Given the description of an element on the screen output the (x, y) to click on. 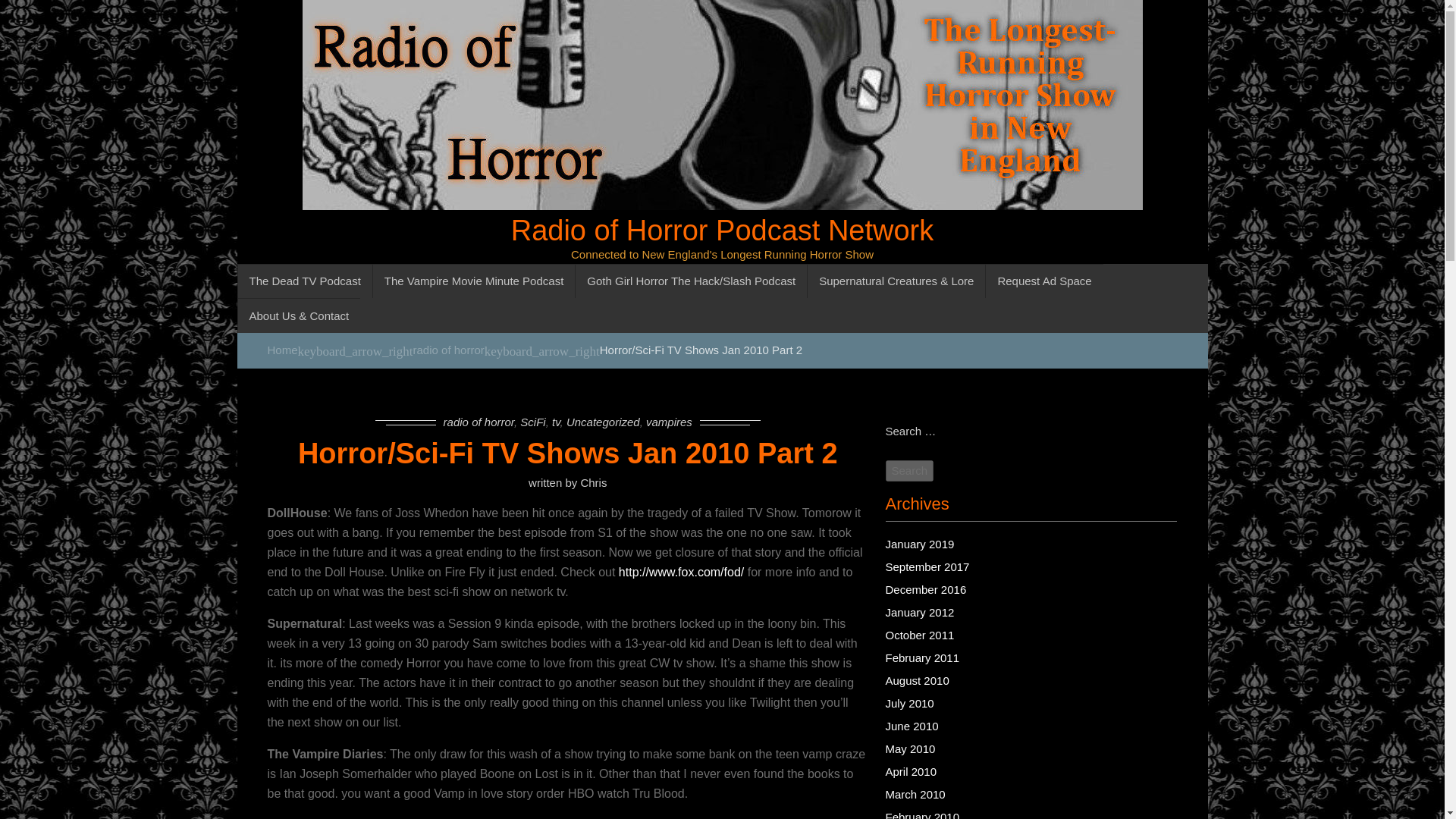
Radio of Horror Podcast Network (722, 229)
Search (909, 471)
Request Ad Space (1043, 280)
Search (909, 471)
Uncategorized (603, 421)
Posts by Chris (593, 481)
The Vampire Movie Minute Podcast (473, 280)
radio of horror (448, 349)
The Dead TV Podcast (303, 280)
SciFi (531, 421)
